Given the description of an element on the screen output the (x, y) to click on. 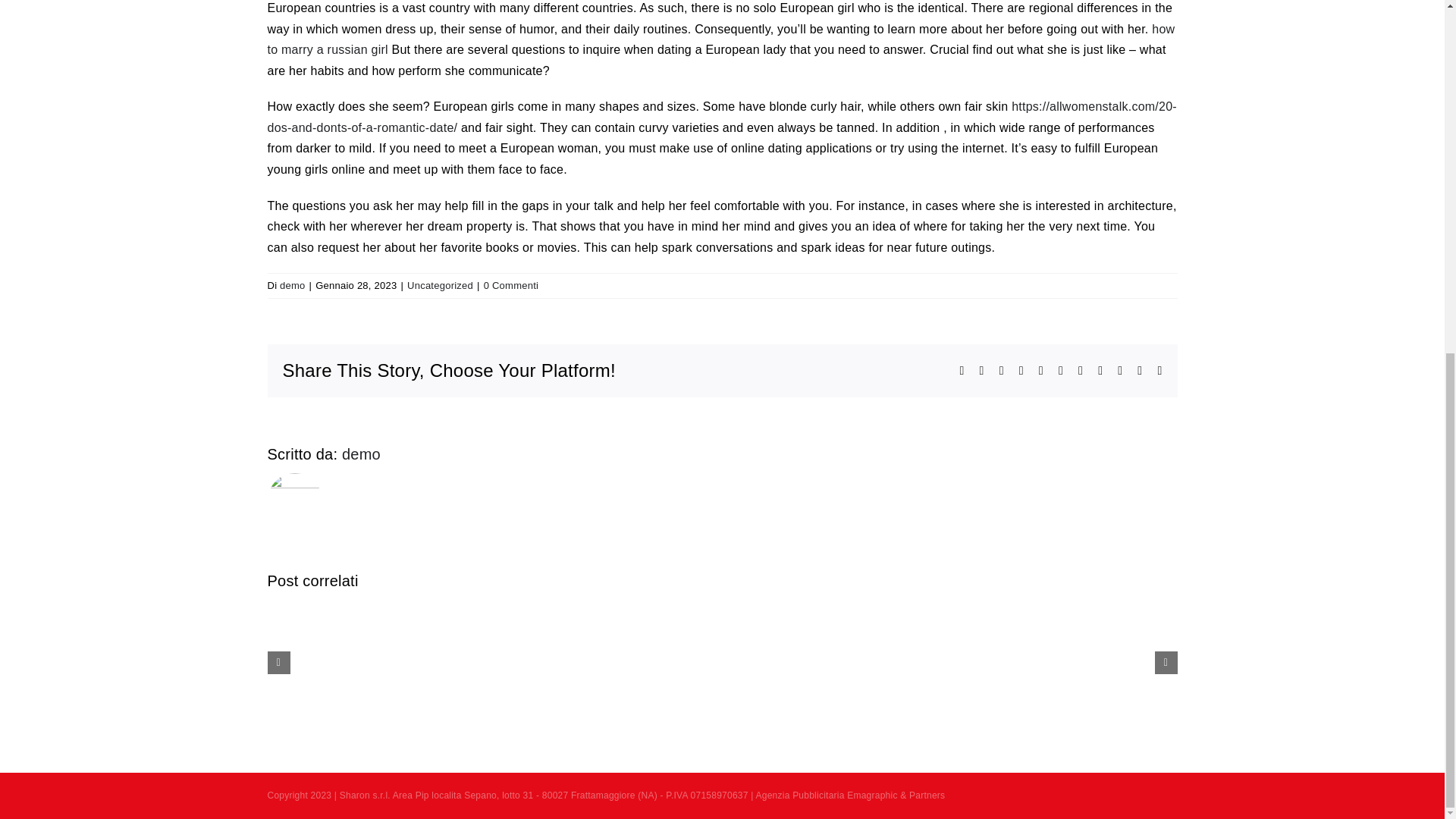
0 Commenti (510, 285)
demo (361, 453)
demo (291, 285)
Uncategorized (440, 285)
Articoli scritti da demo (361, 453)
Articoli scritti da demo (291, 285)
how to marry a russian girl (720, 39)
